Given the description of an element on the screen output the (x, y) to click on. 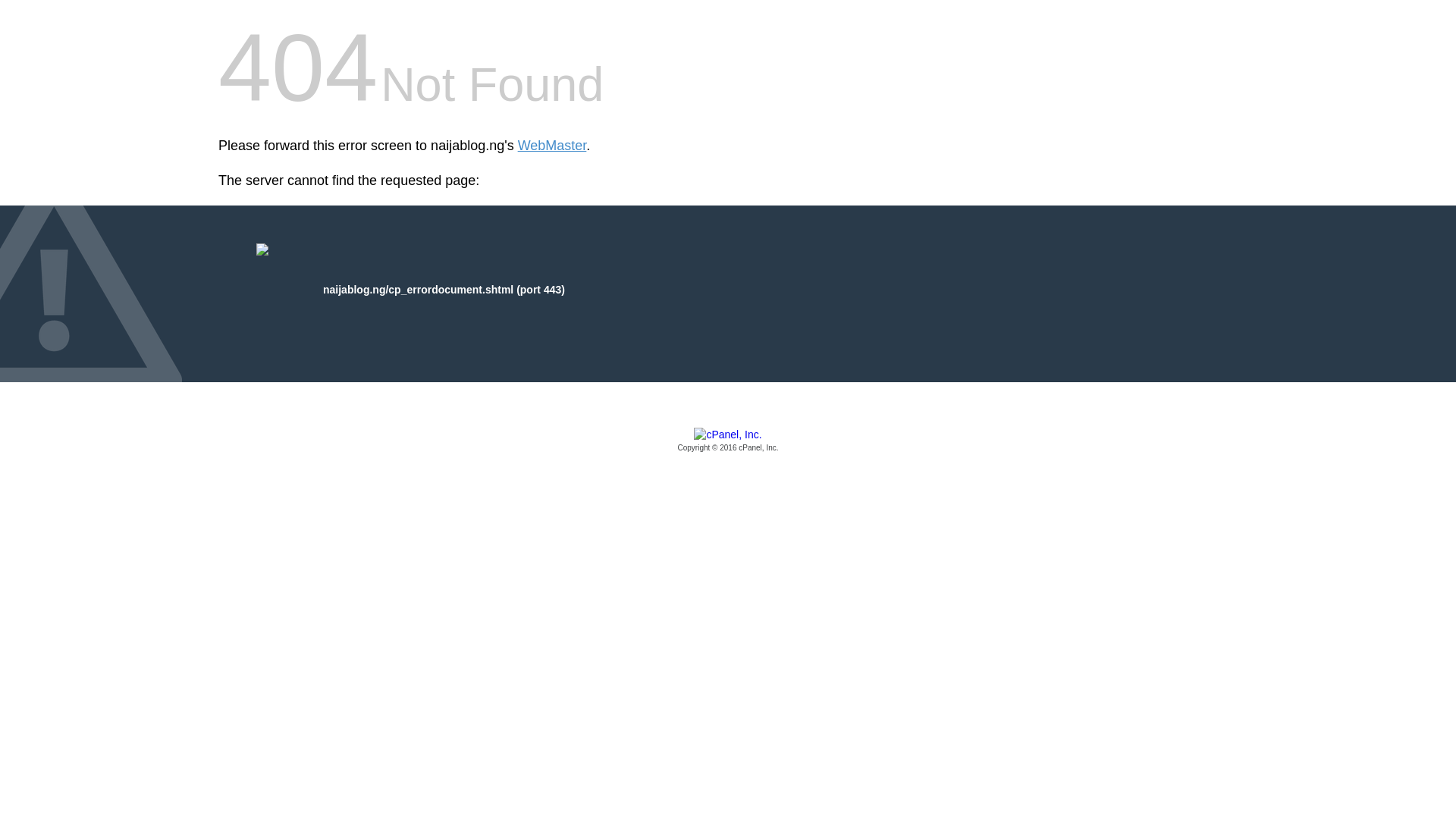
cPanel, Inc. (727, 440)
WebMaster (552, 145)
